Given the description of an element on the screen output the (x, y) to click on. 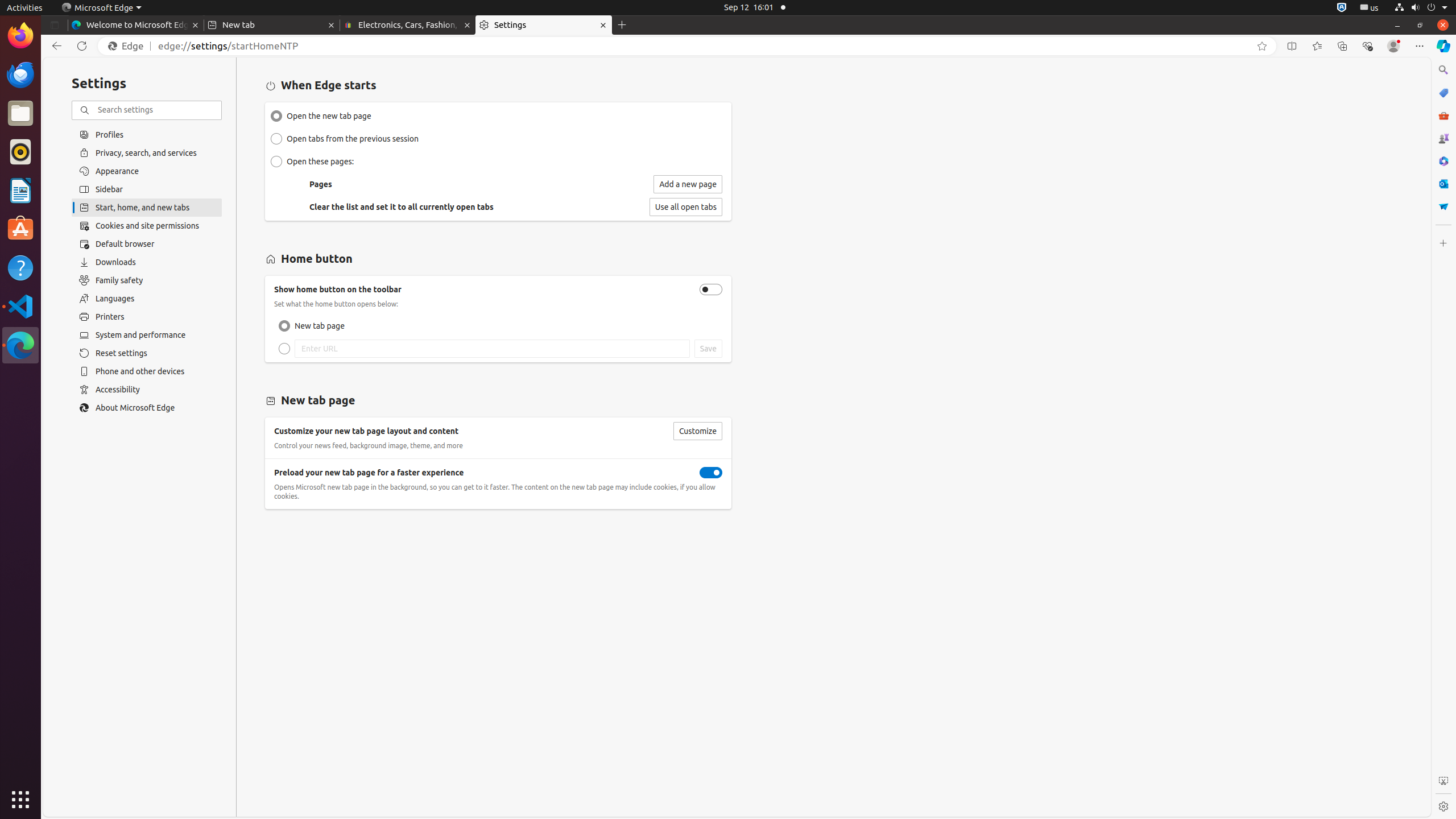
:1.72/StatusNotifierItem Element type: menu (1341, 7)
Appearance Element type: tree-item (146, 171)
Drop Element type: push-button (1443, 206)
Add this page to favorites (Ctrl+D) Element type: push-button (1261, 46)
Add a new page Element type: push-button (687, 184)
